Given the description of an element on the screen output the (x, y) to click on. 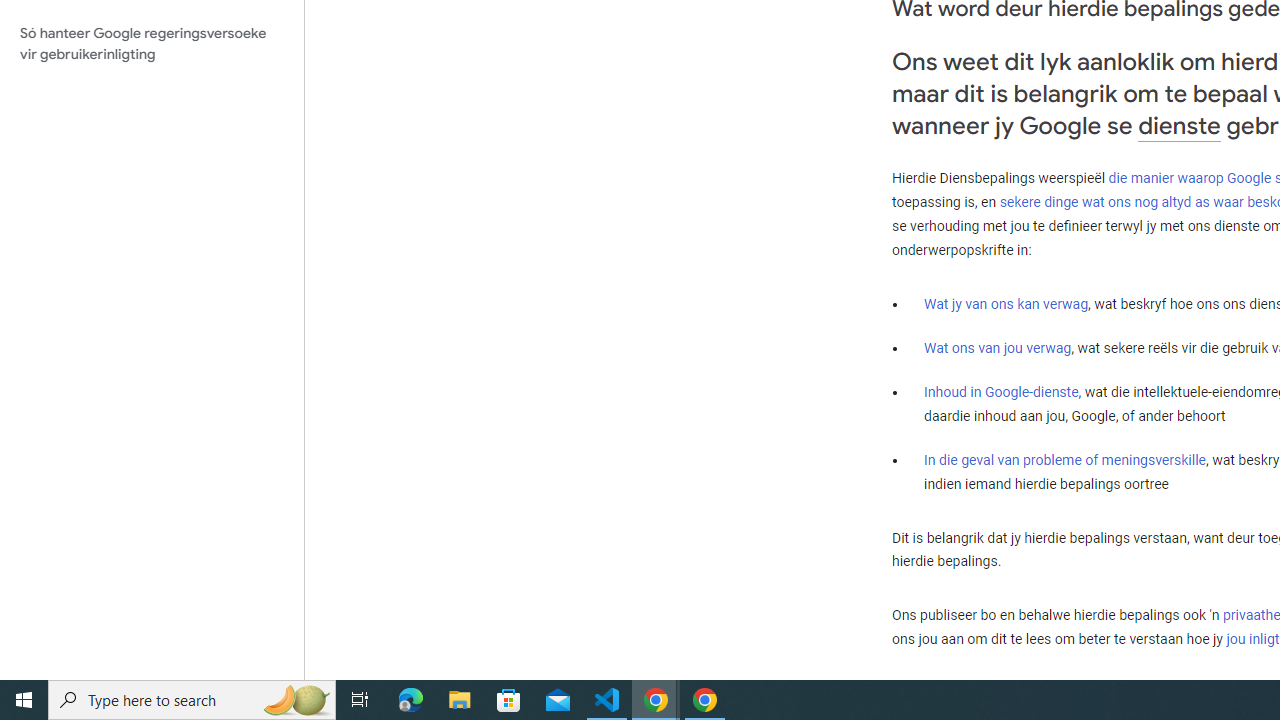
Microsoft Edge (411, 699)
In die geval van probleme of meningsverskille (1064, 459)
